Given the description of an element on the screen output the (x, y) to click on. 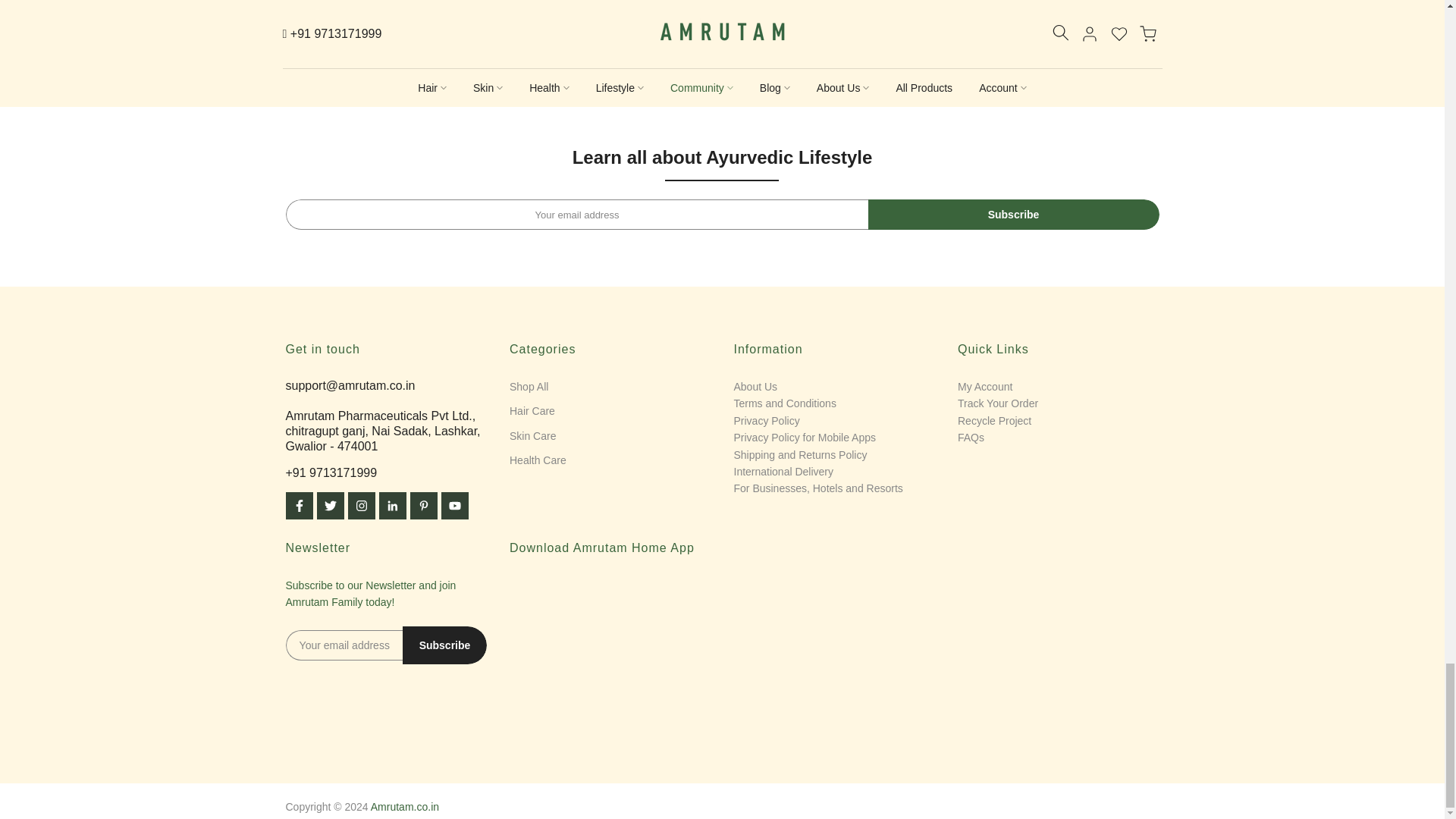
Follow on YouTube (454, 505)
Follow on Pinterest (422, 505)
Follow on Instagram (360, 505)
Follow on Linkedin (392, 505)
Follow on Twitter (330, 505)
Follow on Facebook (299, 505)
